Given the description of an element on the screen output the (x, y) to click on. 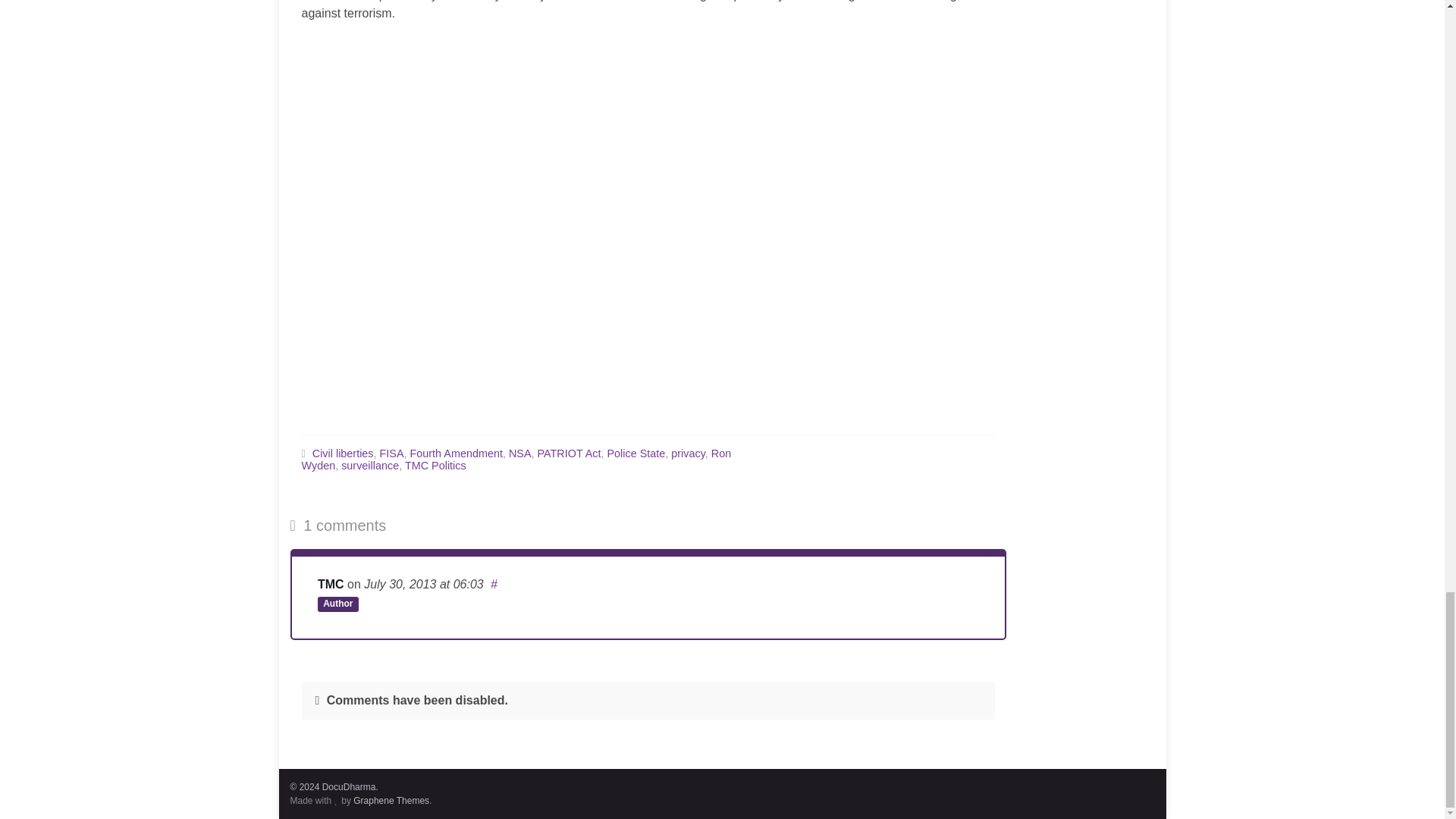
NSA (519, 453)
privacy (687, 453)
TMC Politics (434, 465)
Graphene Themes (391, 800)
Police State (636, 453)
TMC (330, 584)
Fourth Amendment (456, 453)
Civil liberties (343, 453)
FISA (392, 453)
surveillance (369, 465)
